Given the description of an element on the screen output the (x, y) to click on. 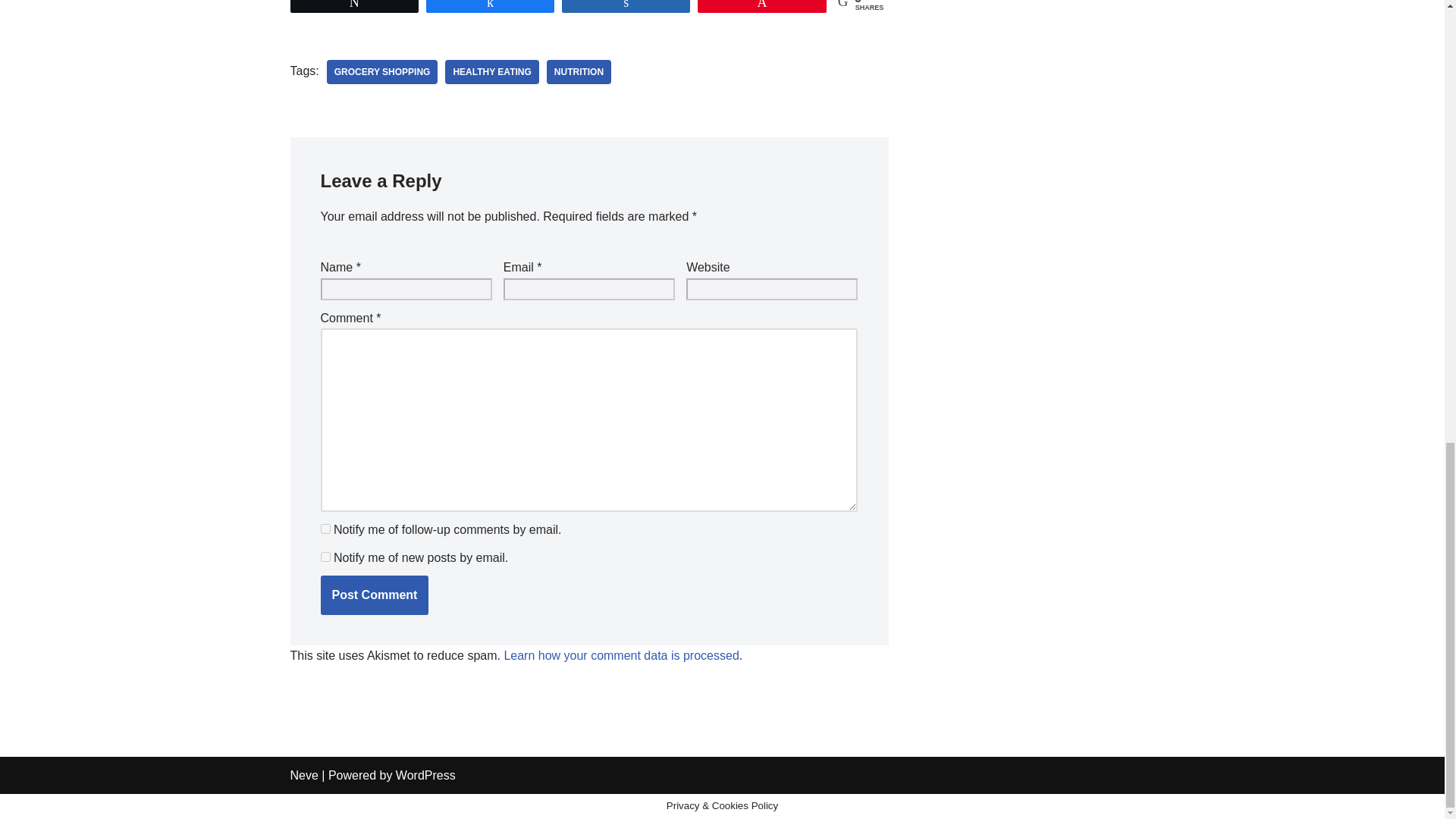
NUTRITION (579, 71)
Post Comment (374, 595)
healthy eating (491, 71)
subscribe (325, 556)
subscribe (325, 528)
grocery shopping (382, 71)
HEALTHY EATING (491, 71)
Post Comment (374, 595)
GROCERY SHOPPING (382, 71)
Nutrition (579, 71)
